Given the description of an element on the screen output the (x, y) to click on. 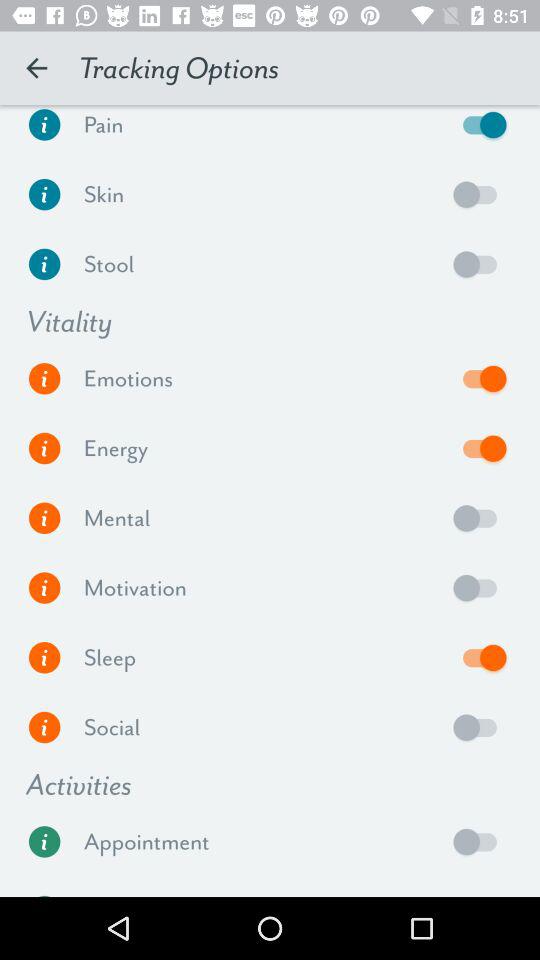
shows more information (44, 727)
